Given the description of an element on the screen output the (x, y) to click on. 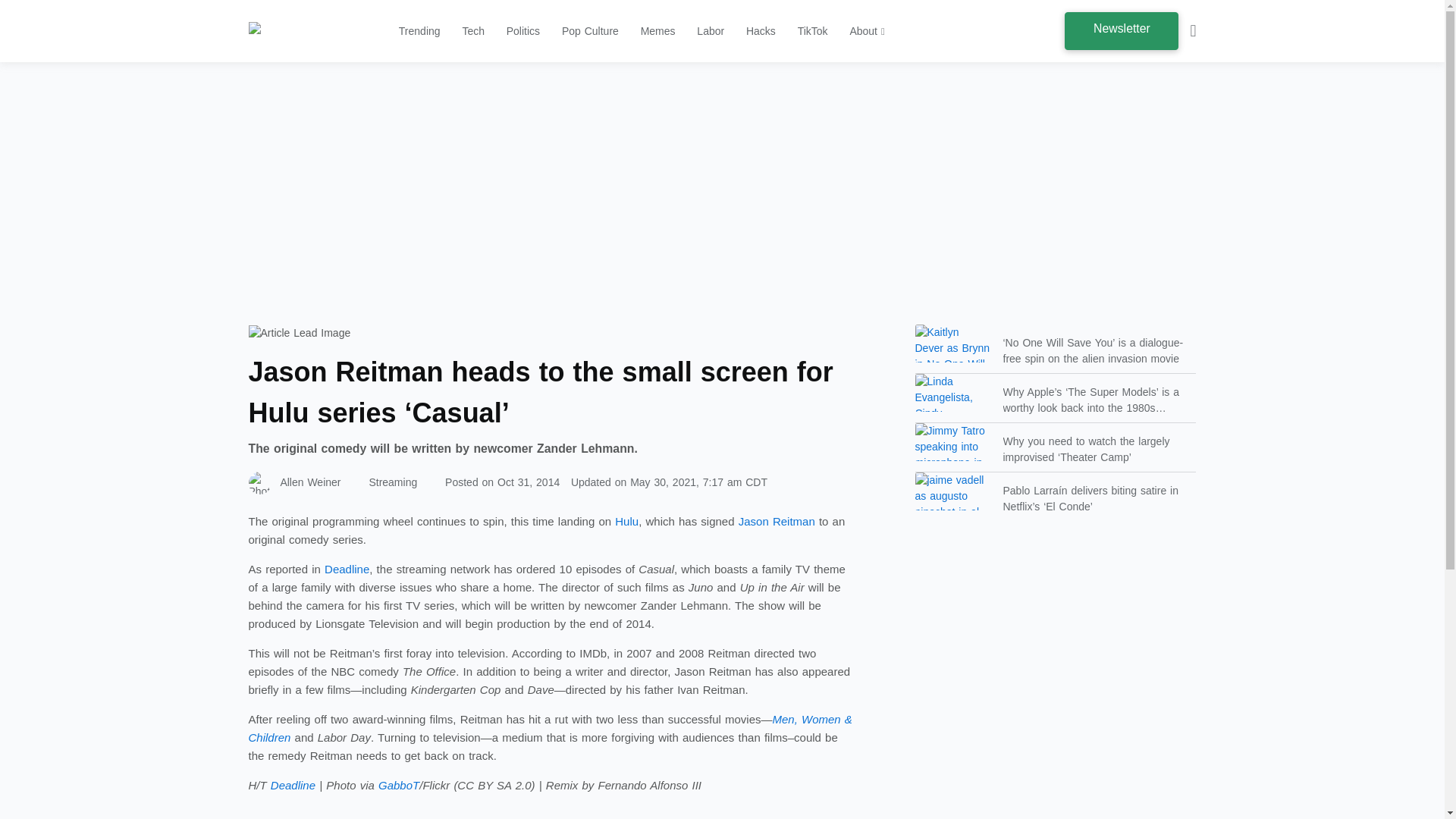
Politics (523, 30)
Tech (472, 30)
Newsletter (1120, 30)
Labor (710, 30)
Trending (419, 30)
Pop Culture (590, 30)
TikTok (812, 30)
Memes (657, 30)
Hacks (760, 30)
About (865, 30)
